Given the description of an element on the screen output the (x, y) to click on. 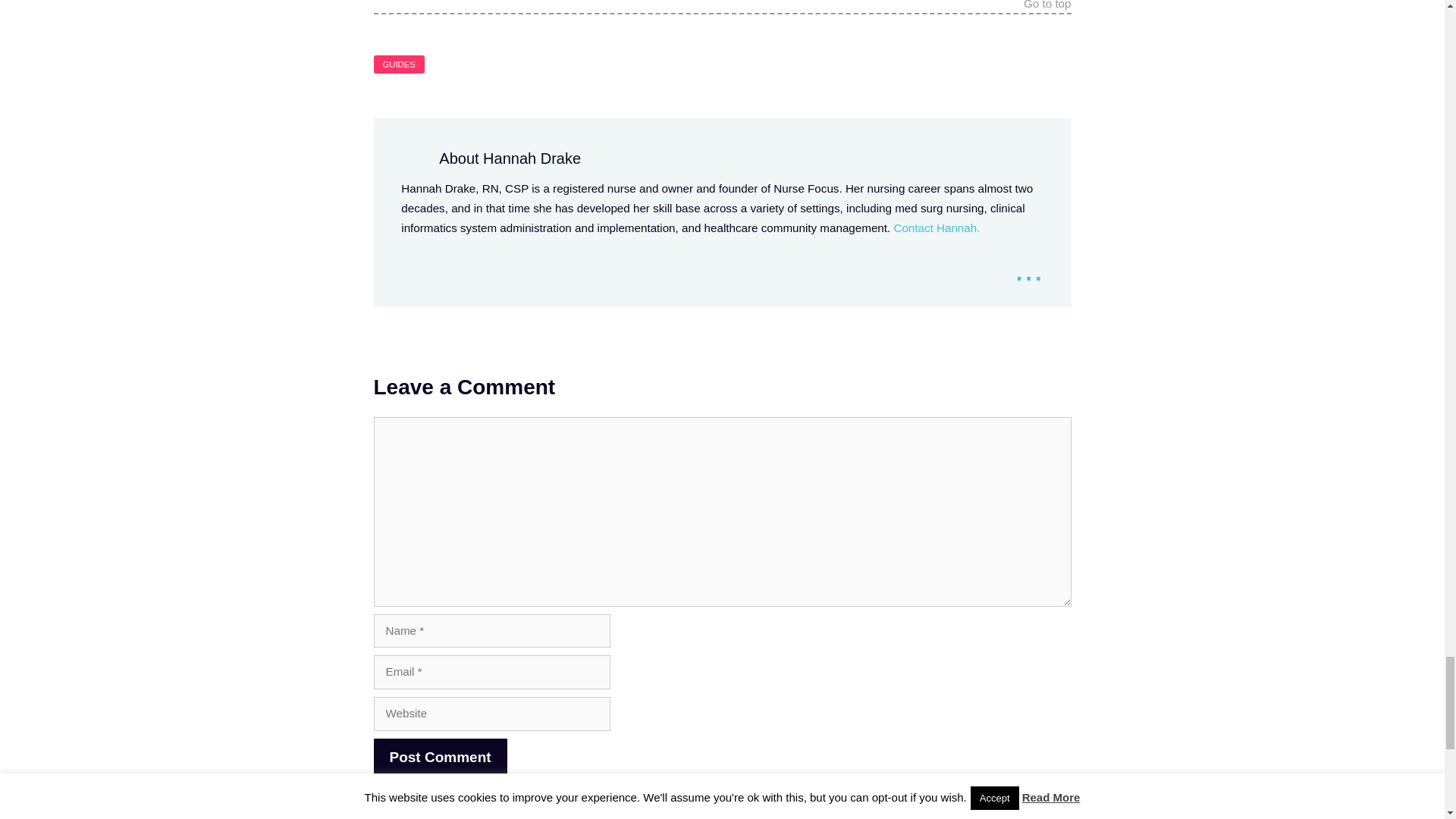
Post Comment (439, 757)
... (1028, 269)
GUIDES (397, 64)
Contact Hannah. (936, 227)
Go to top (1046, 6)
Read more (1028, 269)
Post Comment (439, 757)
